Given the description of an element on the screen output the (x, y) to click on. 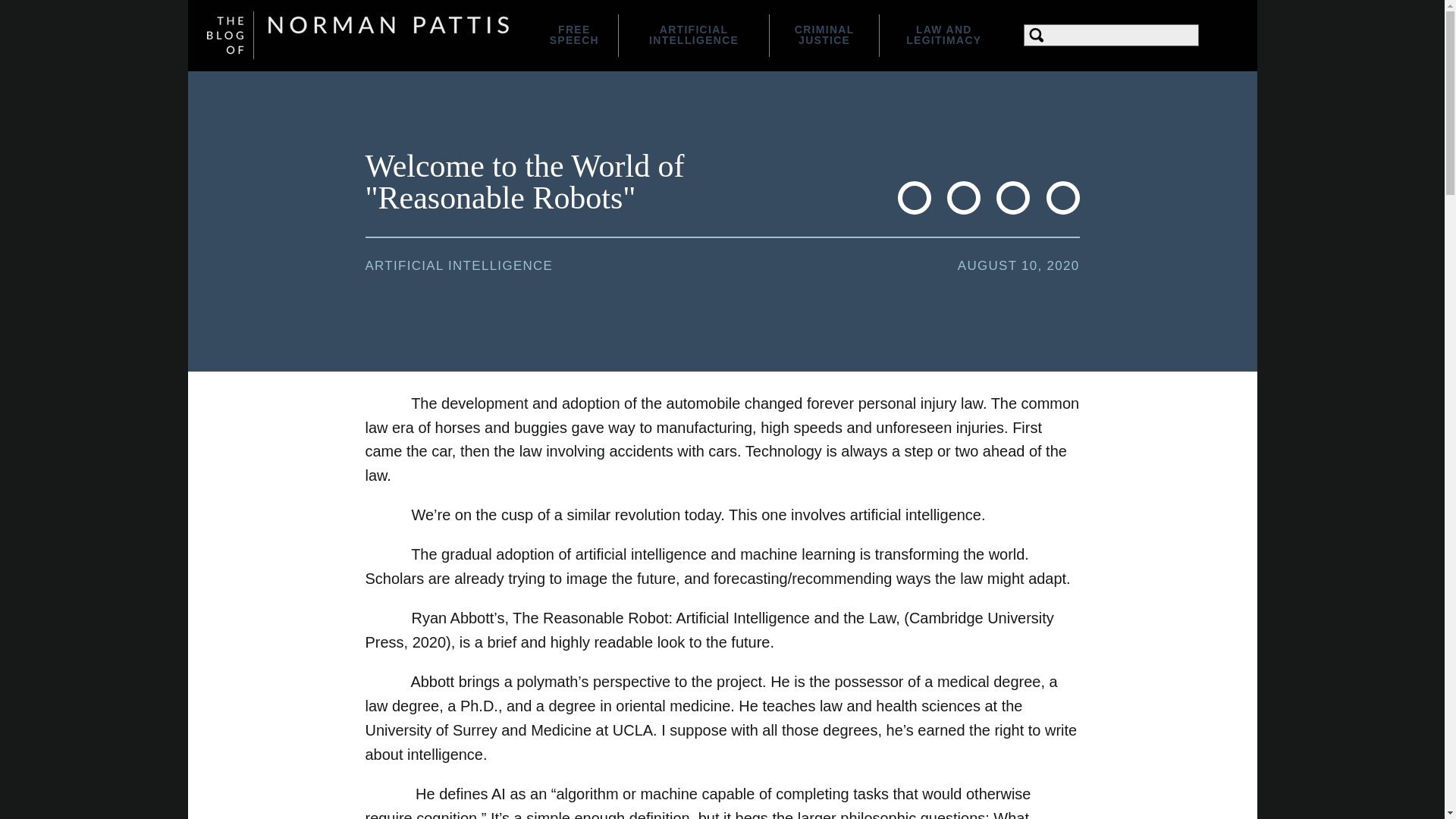
ARTIFICIAL INTELLIGENCE (459, 265)
Artificial Intelligence (693, 35)
LAW AND LEGITIMACY (943, 35)
Facebook (914, 197)
Criminal Justice (824, 35)
Twitter (963, 197)
FREE SPEECH (573, 35)
Search the blog (1110, 34)
Email (1063, 197)
Free Speech (573, 35)
